Given the description of an element on the screen output the (x, y) to click on. 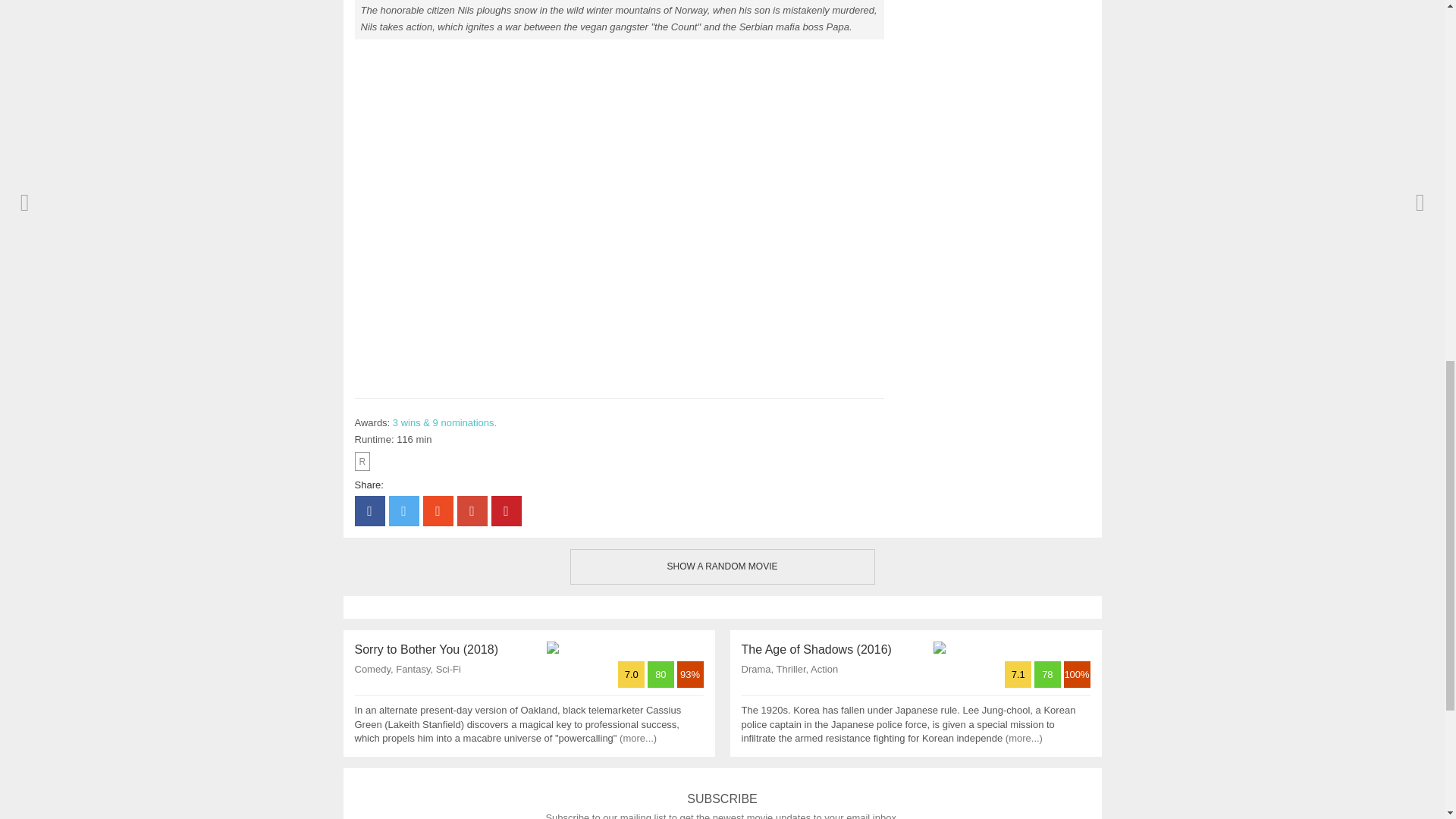
Metascore (662, 674)
IMDb Rating (632, 674)
IMDb Rating (1018, 674)
Rotten Tomatoes Critics Score (1075, 674)
Rotten Tomatoes Critics Score (690, 674)
Metascore (1048, 674)
